Given the description of an element on the screen output the (x, y) to click on. 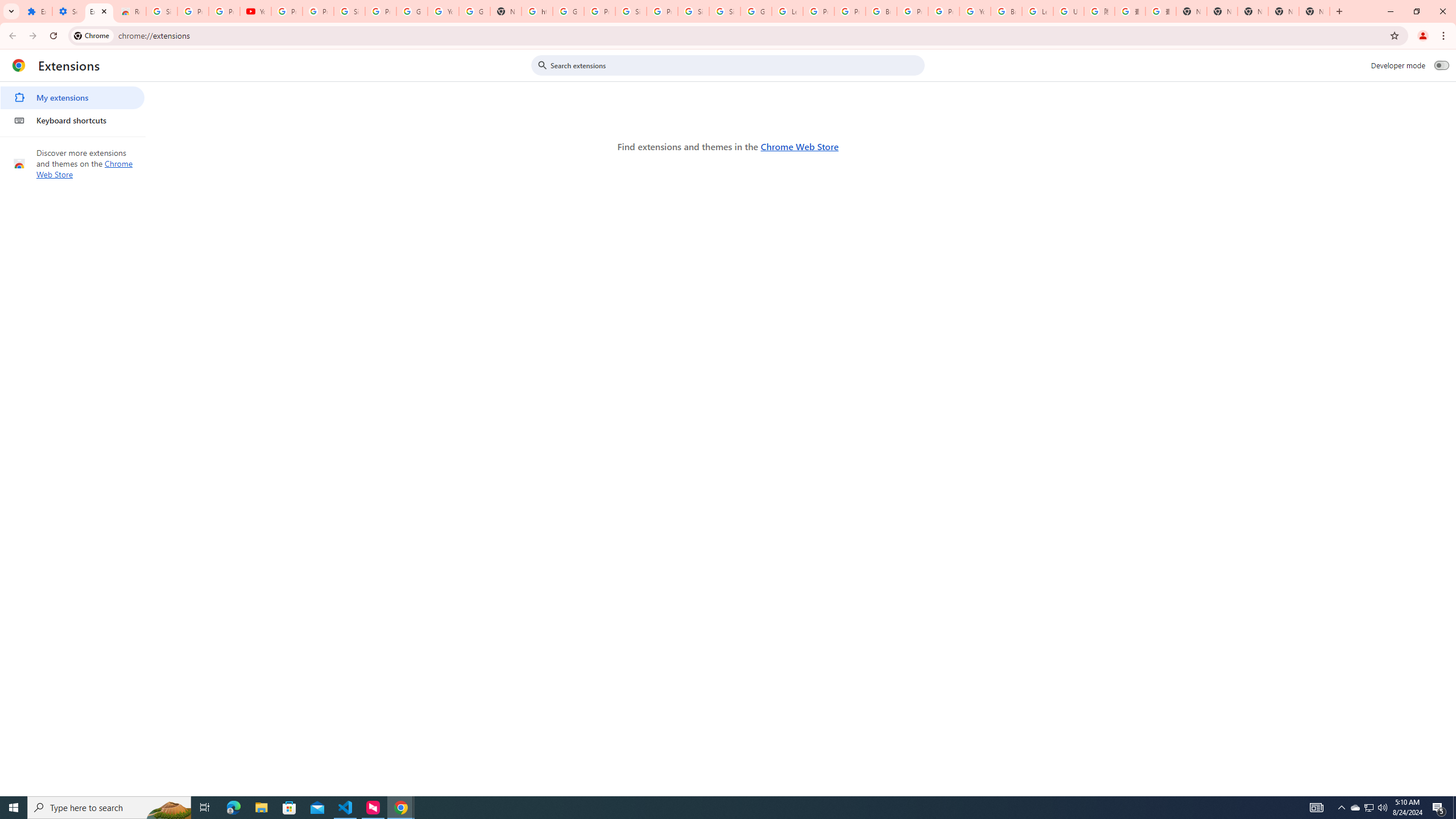
YouTube (974, 11)
AutomationID: sectionMenu (72, 106)
Extensions (98, 11)
Browse Chrome as a guest - Computer - Google Chrome Help (1005, 11)
Developer mode (1442, 64)
New Tab (1190, 11)
